Given the description of an element on the screen output the (x, y) to click on. 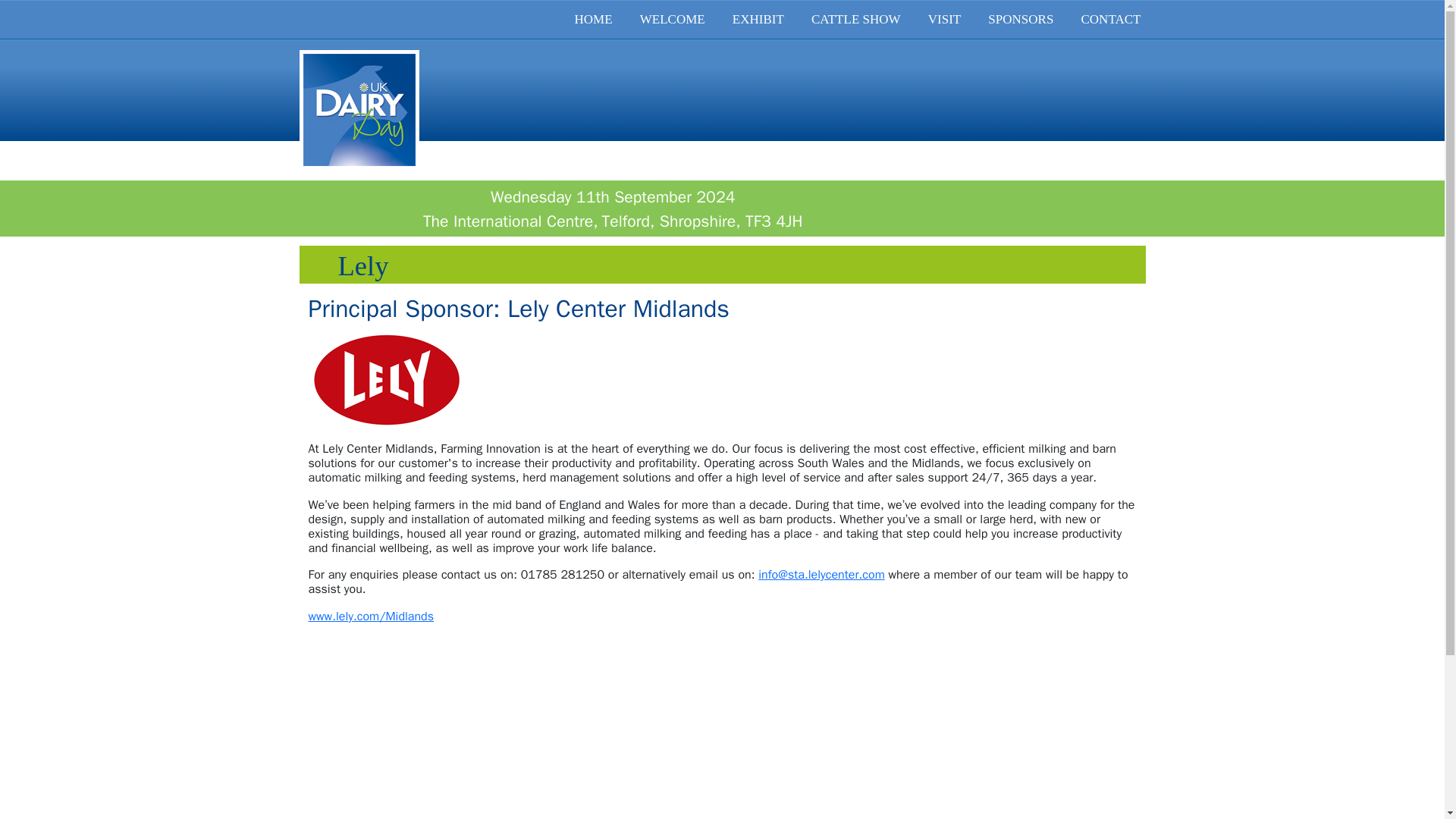
HOME (593, 19)
VISIT (944, 19)
EXHIBIT (758, 19)
WELCOME (672, 19)
CATTLE SHOW (855, 19)
SPONSORS (1020, 19)
